Given the description of an element on the screen output the (x, y) to click on. 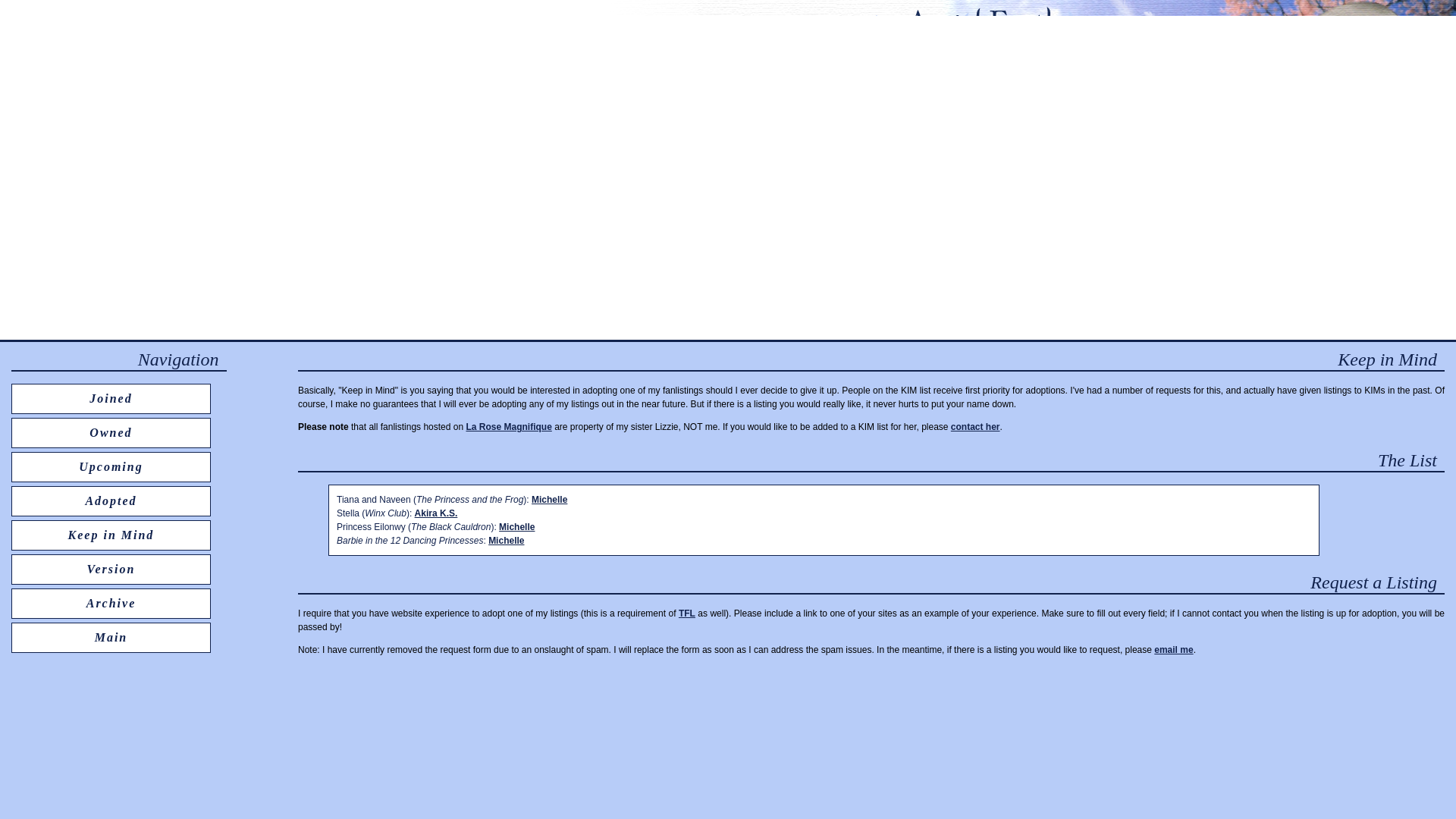
email me (1173, 649)
La Rose Magnifique (508, 426)
Archive (110, 603)
Michelle (549, 499)
Version (111, 568)
Michelle (516, 526)
Joined (110, 398)
TFL (686, 613)
Akira K.S. (436, 512)
contact her (975, 426)
Main (111, 636)
Keep in Mind (111, 534)
Adopted (110, 500)
Michelle (505, 540)
Owned (110, 431)
